Given the description of an element on the screen output the (x, y) to click on. 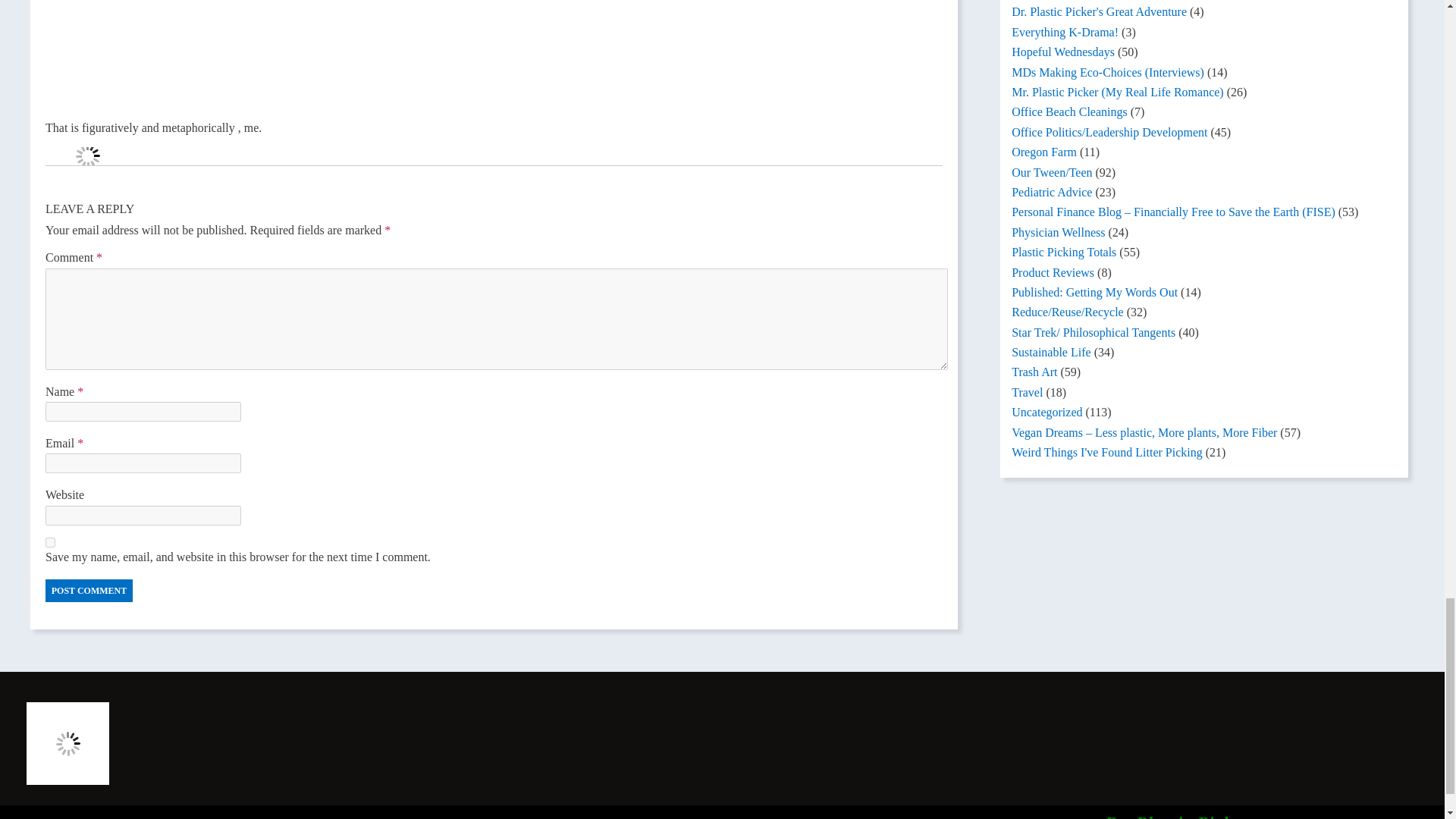
Post Comment (88, 590)
Post Comment (88, 590)
yes (50, 542)
